Given the description of an element on the screen output the (x, y) to click on. 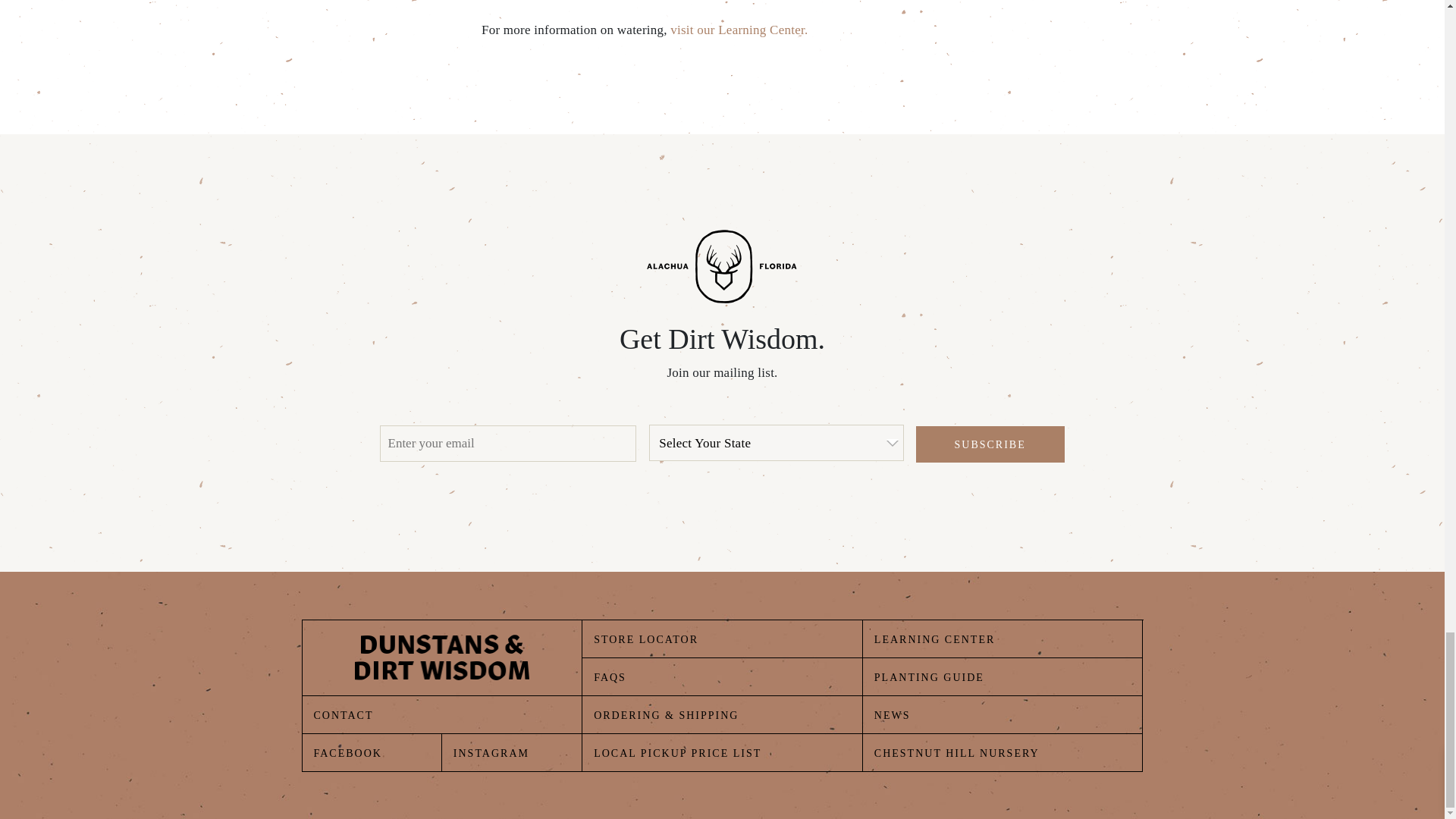
Subscribe (989, 443)
